Given the description of an element on the screen output the (x, y) to click on. 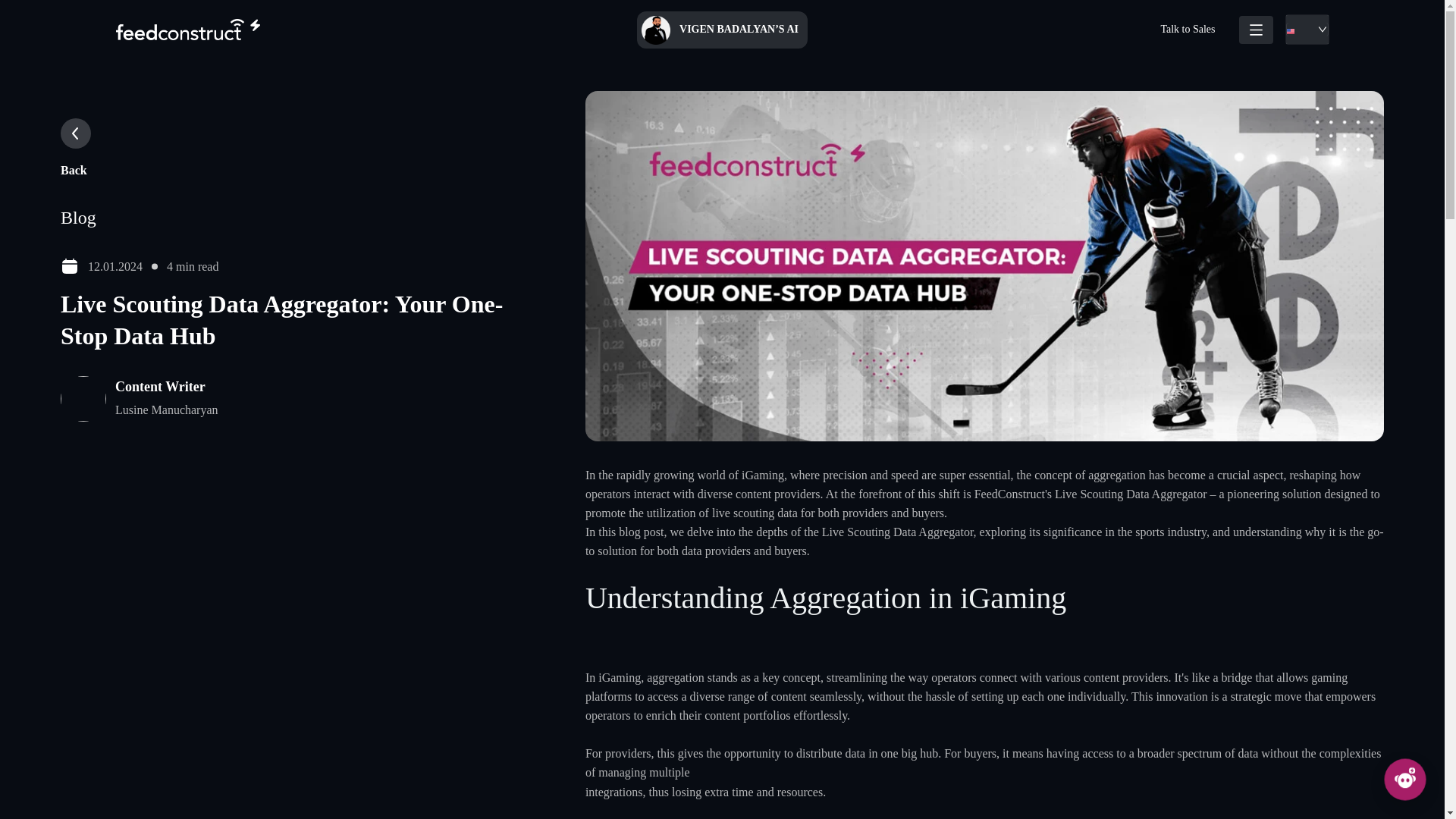
Blog (78, 217)
Talk to Sales (1186, 29)
Open chat window (1408, 782)
